Given the description of an element on the screen output the (x, y) to click on. 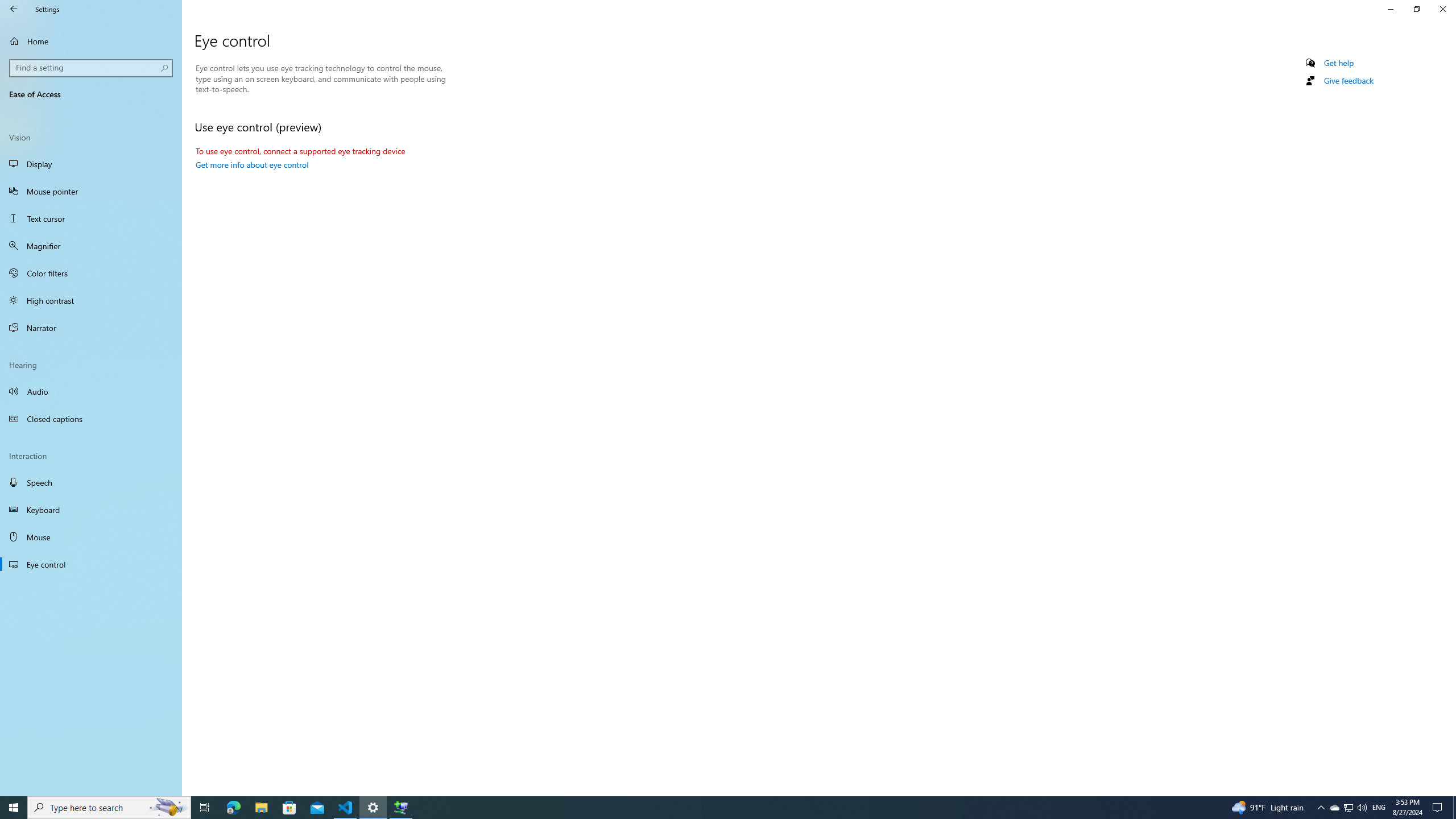
Home (91, 40)
Minimize Settings (1390, 9)
Mouse pointer (91, 190)
Keyboard (91, 509)
Closed captions (91, 418)
Speech (91, 482)
